Given the description of an element on the screen output the (x, y) to click on. 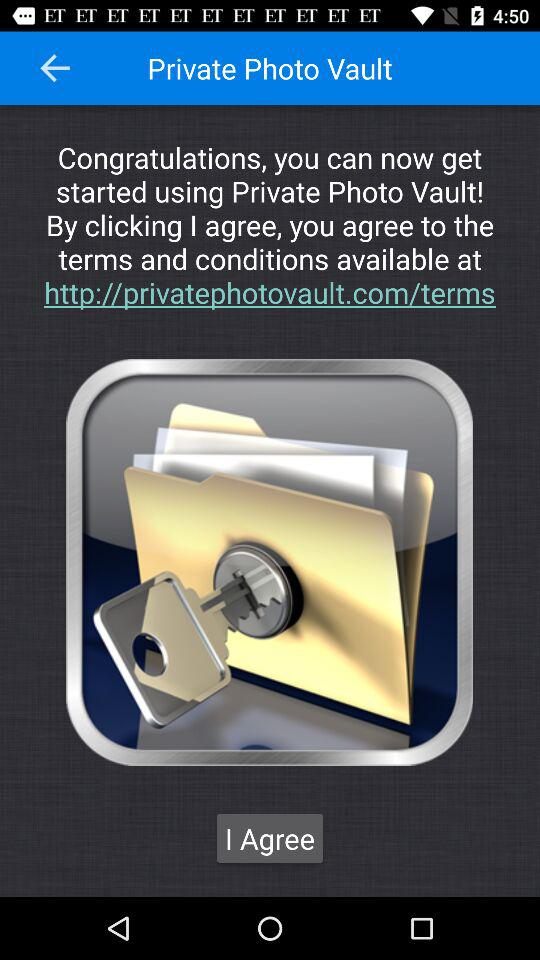
tap the item above the congratulations you can (55, 68)
